Given the description of an element on the screen output the (x, y) to click on. 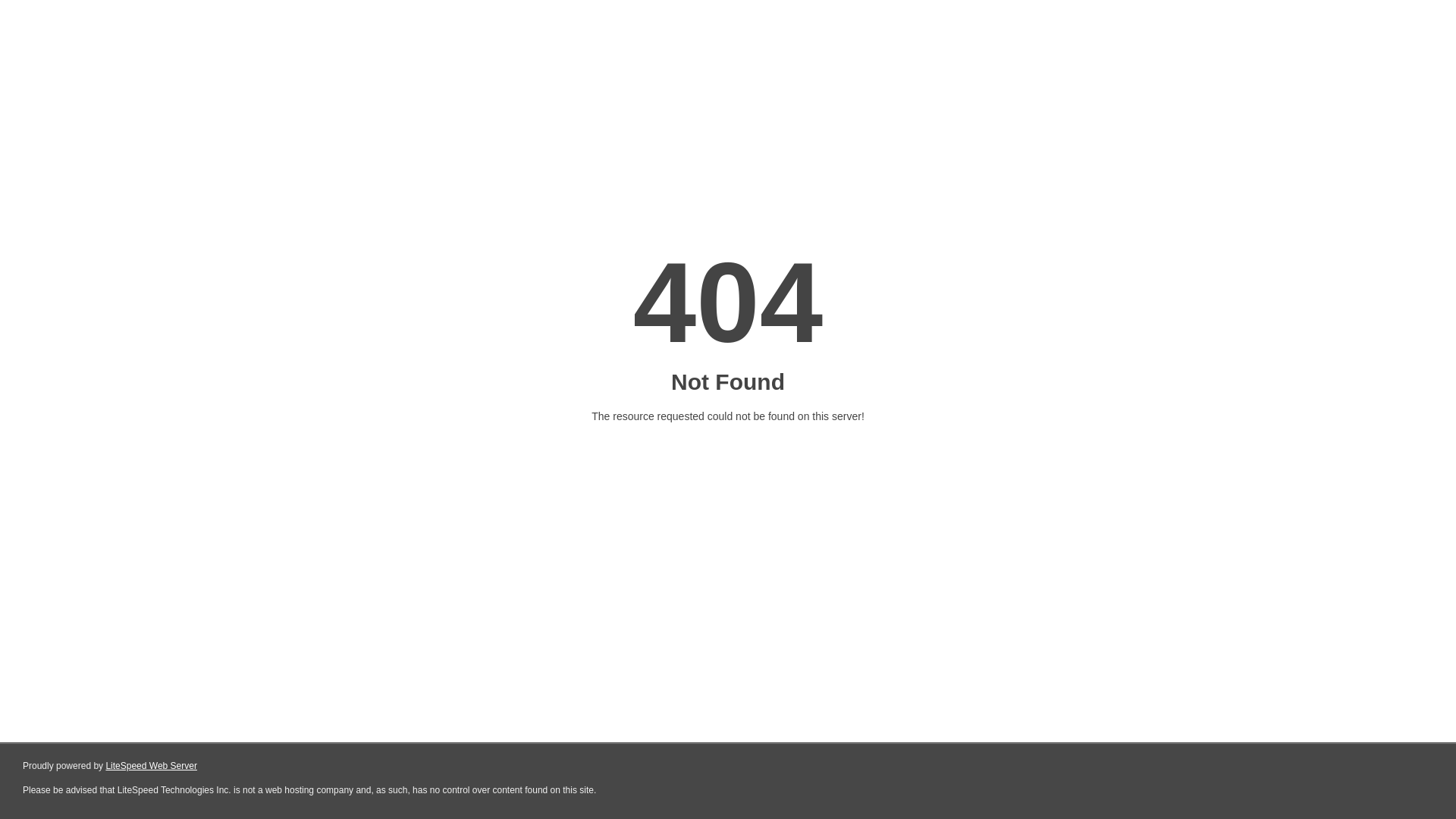
LiteSpeed Web Server Element type: text (151, 765)
